Given the description of an element on the screen output the (x, y) to click on. 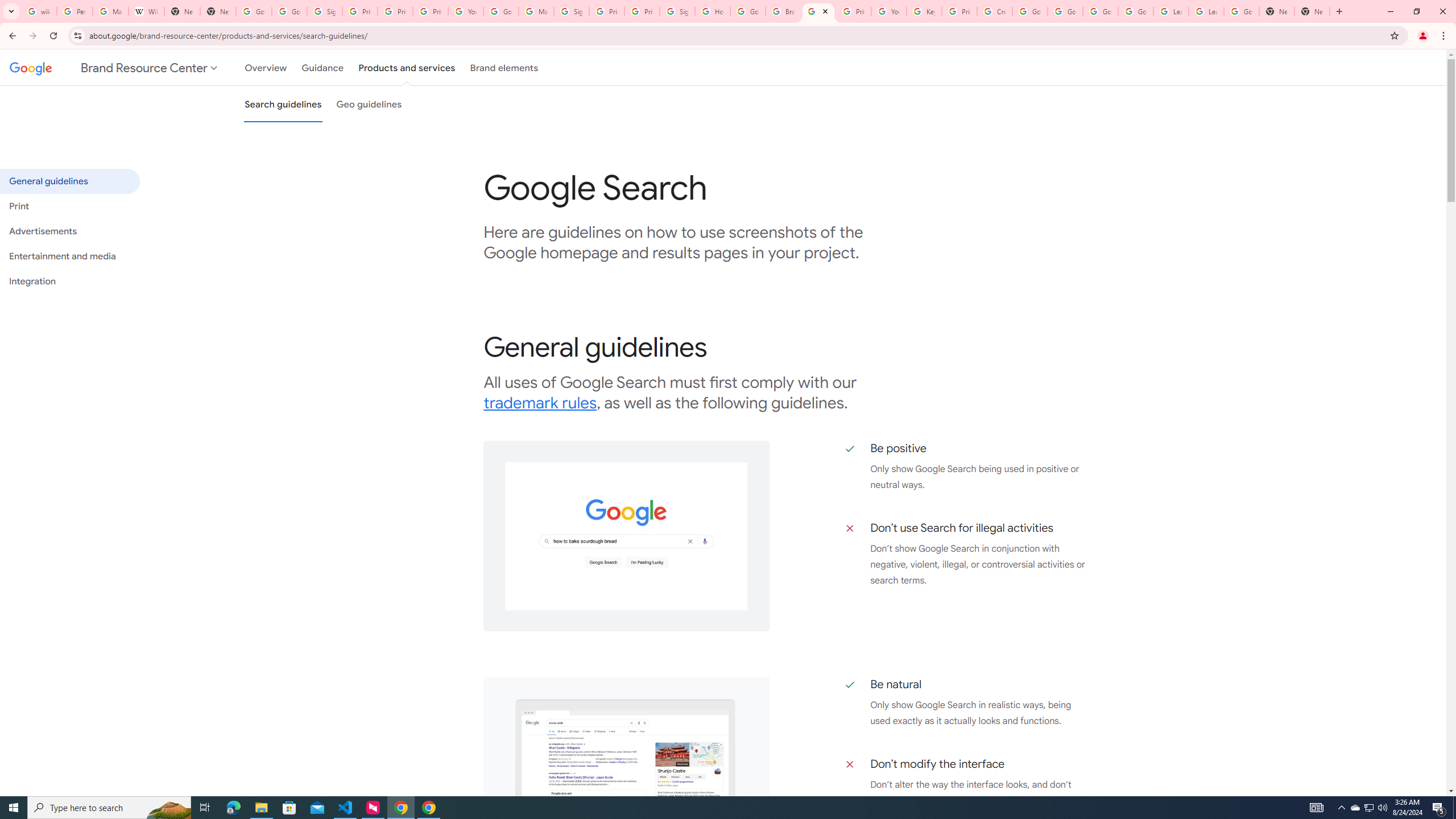
Geo guidelines (369, 103)
Personalization & Google Search results - Google Search Help (74, 11)
Google Account Help (501, 11)
